Given the description of an element on the screen output the (x, y) to click on. 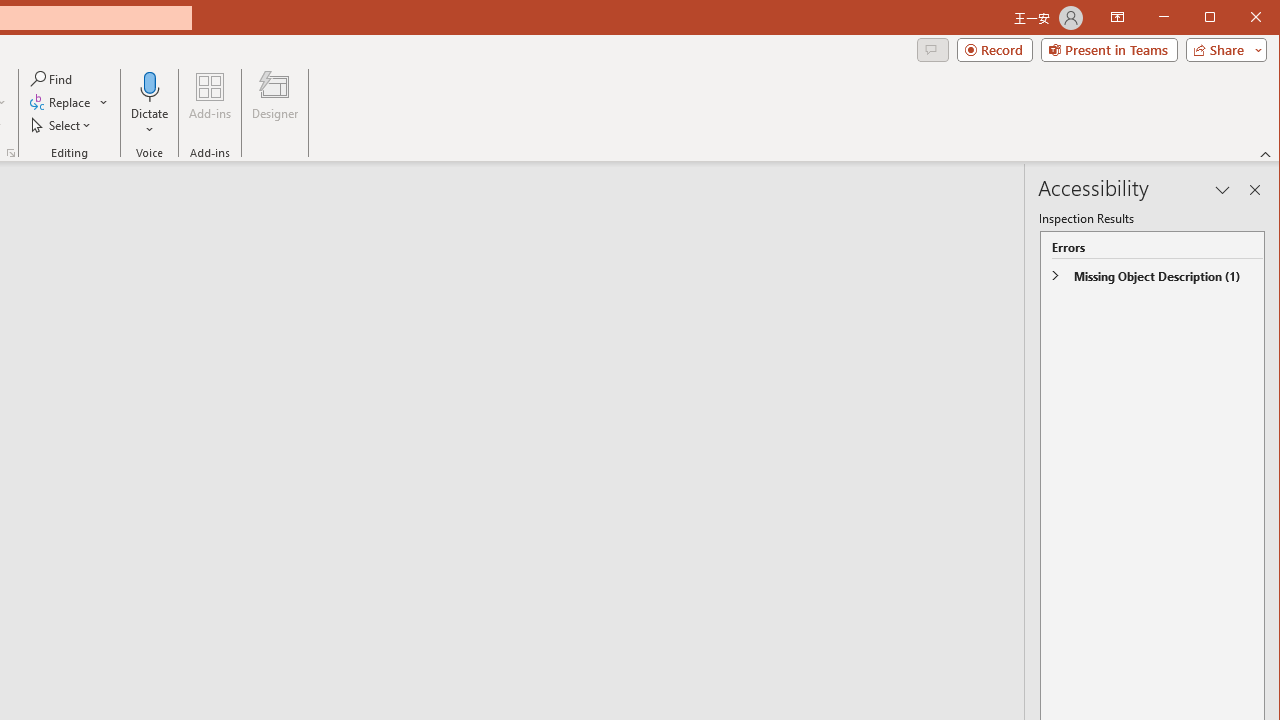
Maximize (1238, 18)
